Given the description of an element on the screen output the (x, y) to click on. 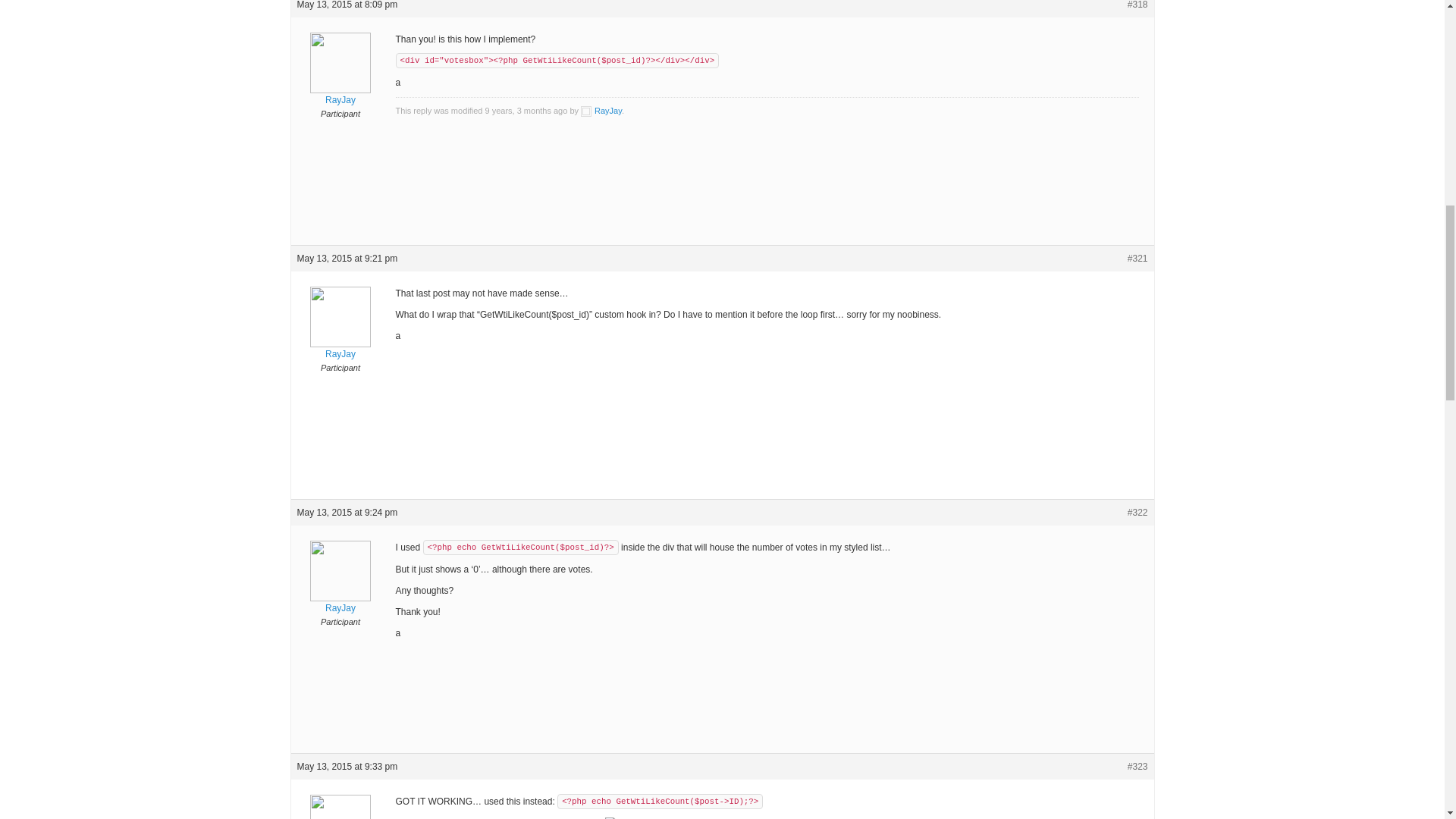
View RayJay's profile (340, 816)
View RayJay's profile (600, 110)
RayJay (340, 588)
RayJay (340, 334)
RayJay (340, 80)
RayJay (340, 816)
View RayJay's profile (340, 334)
View RayJay's profile (340, 588)
RayJay (600, 110)
View RayJay's profile (340, 80)
